Given the description of an element on the screen output the (x, y) to click on. 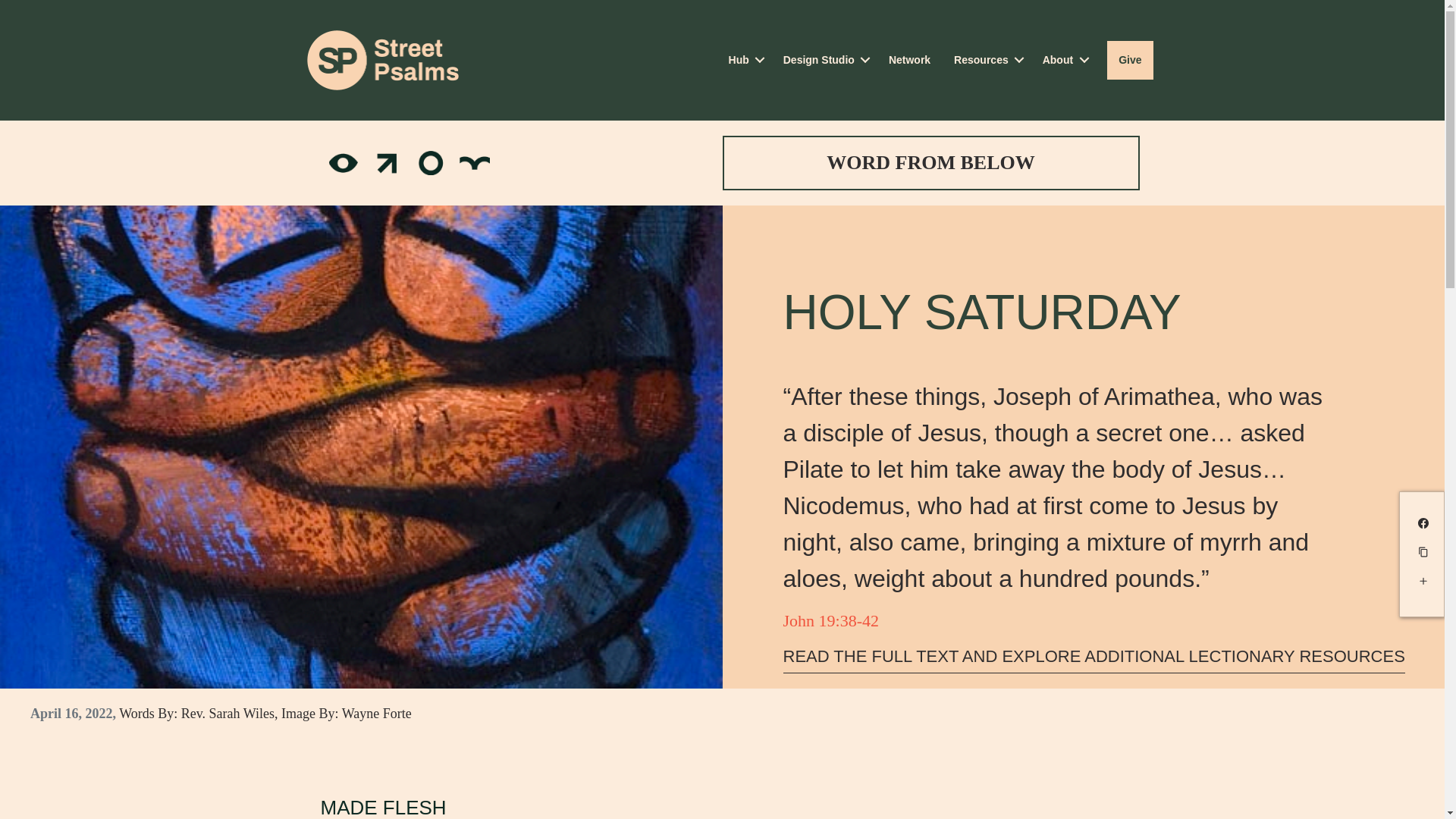
About (1062, 59)
Design Studio (823, 59)
Network (909, 59)
Give (1129, 59)
Resources (986, 59)
WORD FROM BELOW (930, 162)
Hub (744, 59)
